Given the description of an element on the screen output the (x, y) to click on. 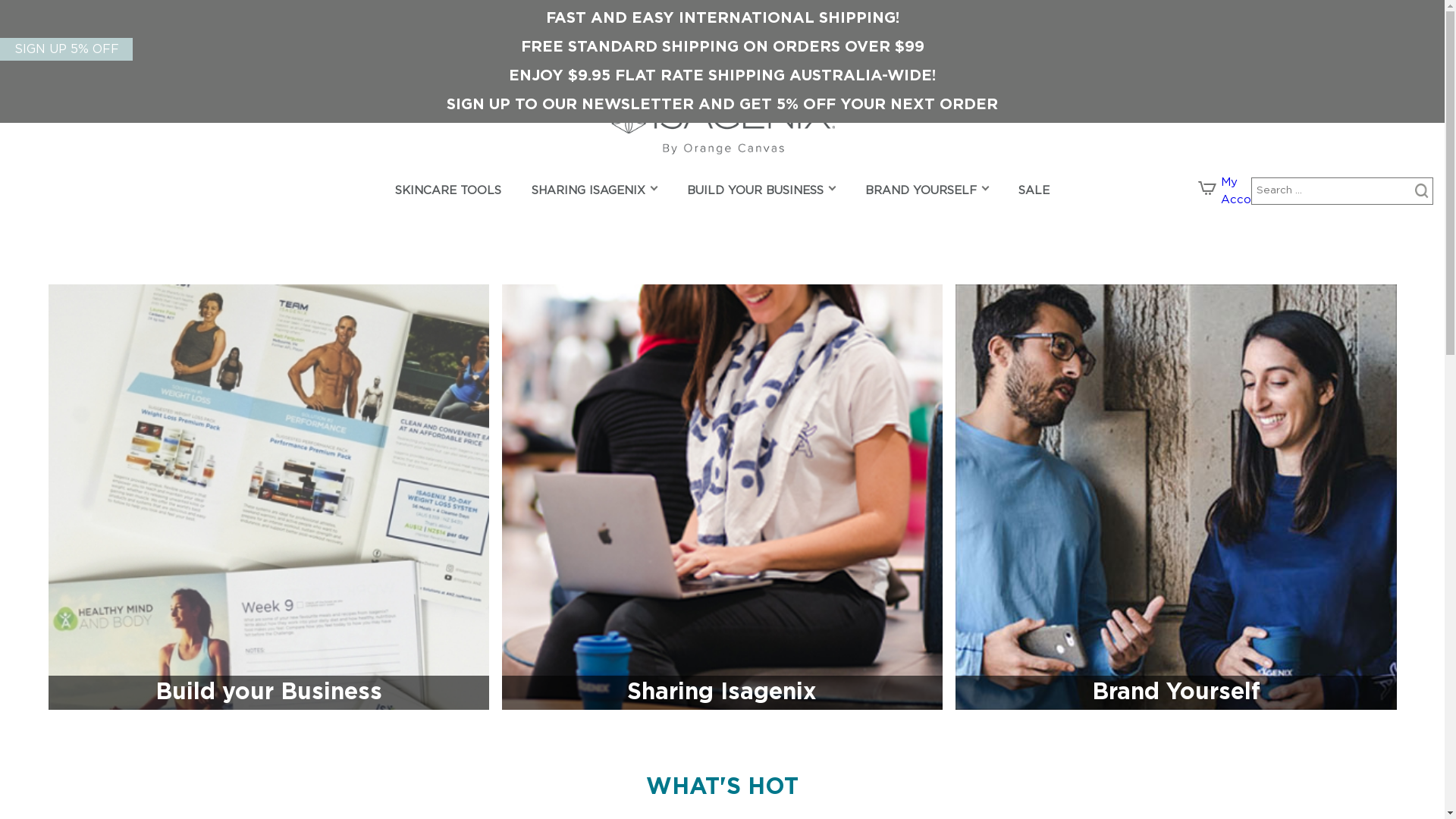
Build your Business Element type: text (268, 496)
BRAND YOURSELF Element type: text (920, 192)
SKINCARE TOOLS Element type: text (448, 192)
My Account Element type: text (1245, 190)
SALE Element type: text (1033, 192)
Sharing Isagenix Element type: text (722, 496)
BUILD YOUR BUSINESS Element type: text (755, 192)
SHARING ISAGENIX Element type: text (588, 192)
Brand Yourself Element type: text (1175, 496)
